Given the description of an element on the screen output the (x, y) to click on. 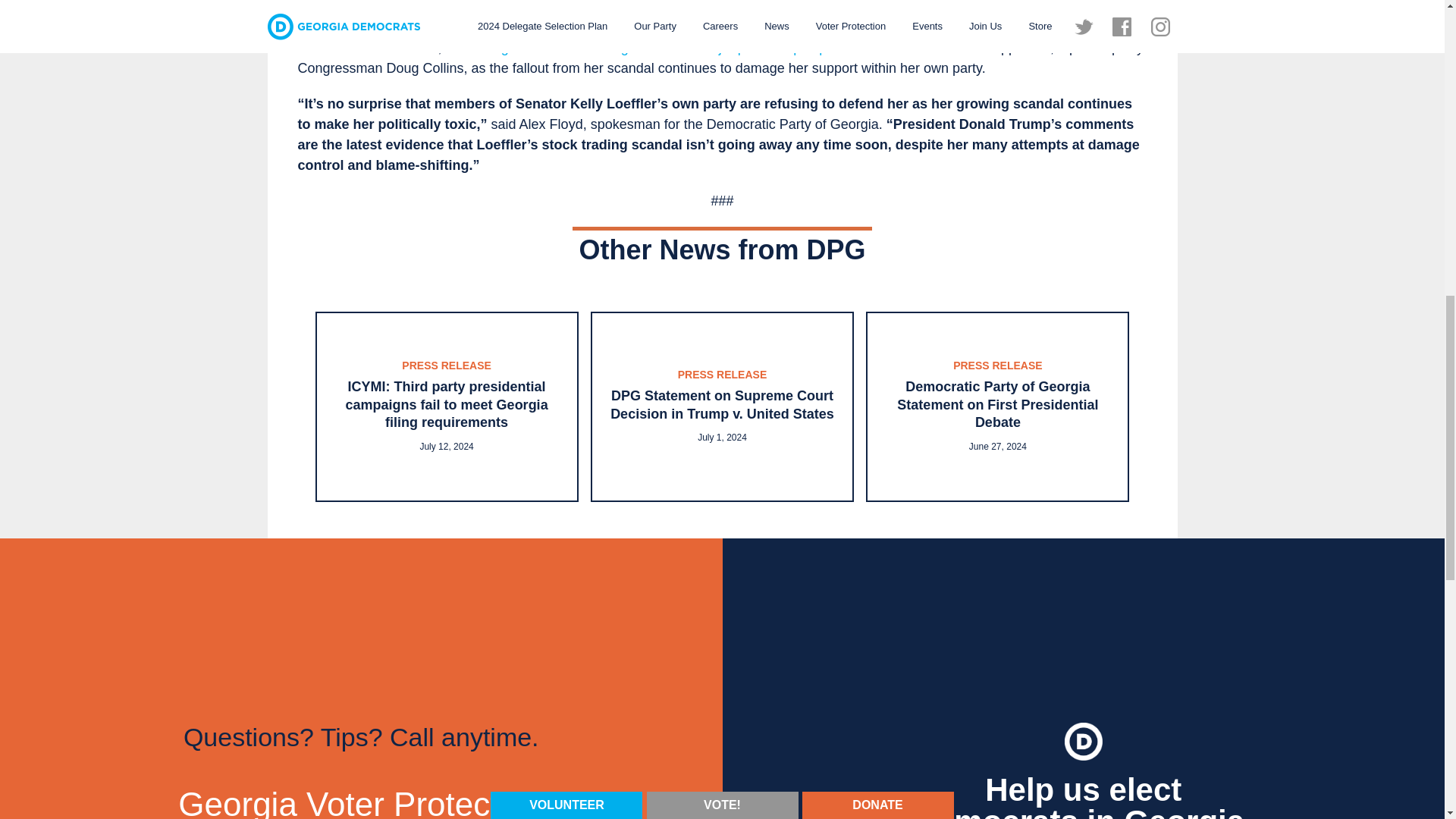
major pro-Trump super PAC (784, 47)
Congressman Drew Ferguson (567, 47)
